Given the description of an element on the screen output the (x, y) to click on. 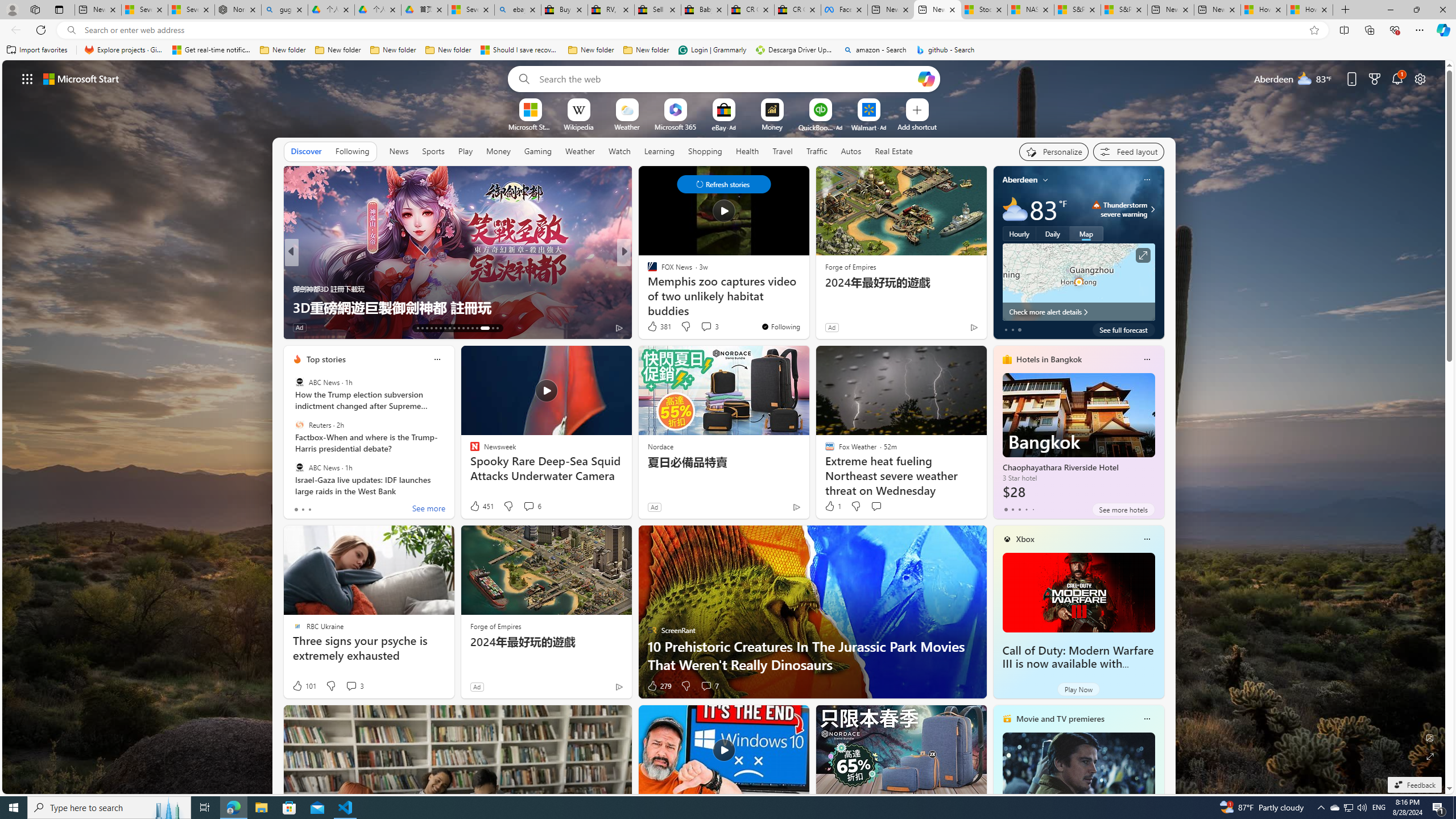
Wikipedia (578, 126)
Search icon (70, 29)
View comments 3 Comment (350, 685)
Gaming (537, 151)
See full forecast (1123, 329)
View comments 7 Comment (705, 685)
honeymallow (296, 288)
github - Search (945, 49)
AutomationID: tab-18 (440, 328)
News (398, 151)
